Given the description of an element on the screen output the (x, y) to click on. 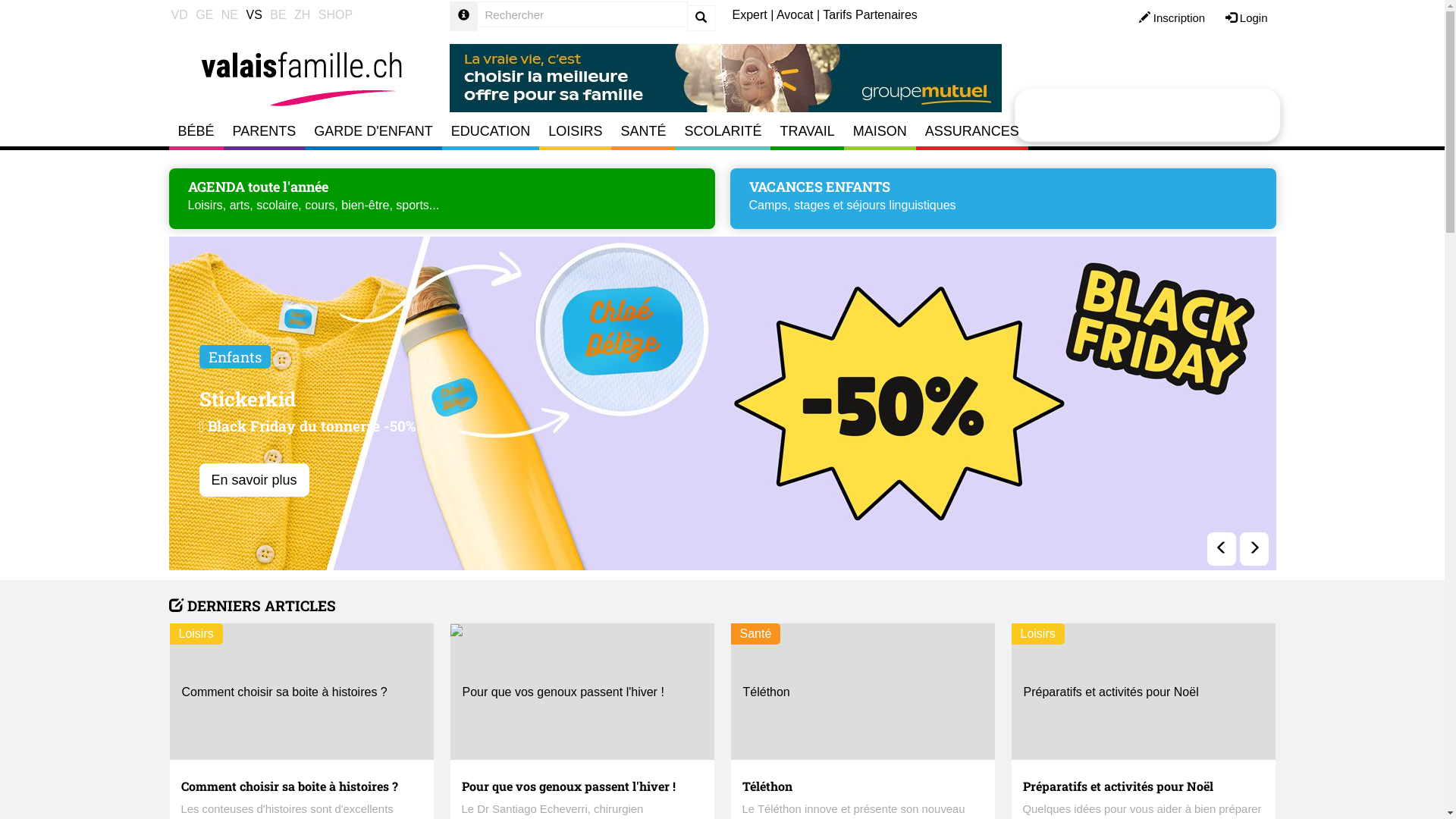
NE Element type: text (229, 15)
EDUCATION Element type: text (490, 131)
BE Element type: text (277, 15)
Tarifs Partenaires Element type: text (869, 14)
GE Element type: text (204, 15)
PARENTS Element type: text (264, 131)
ASSURANCES Element type: text (972, 131)
Accueil Valais Famillle Element type: hover (300, 71)
VS Element type: text (253, 15)
Avocat Element type: text (794, 14)
Expert Element type: text (749, 14)
En savoir plus Element type: text (366, 479)
Login Element type: text (1246, 18)
La Family Shop Element type: hover (1109, 107)
MAISON Element type: text (880, 131)
LOISIRS Element type: text (575, 131)
TRAVAIL Element type: text (806, 131)
ZH Element type: text (301, 15)
Inscription Element type: text (1172, 18)
SHOP Element type: text (335, 15)
VD Element type: text (178, 15)
GARDE D'ENFANT Element type: text (372, 131)
